Given the description of an element on the screen output the (x, y) to click on. 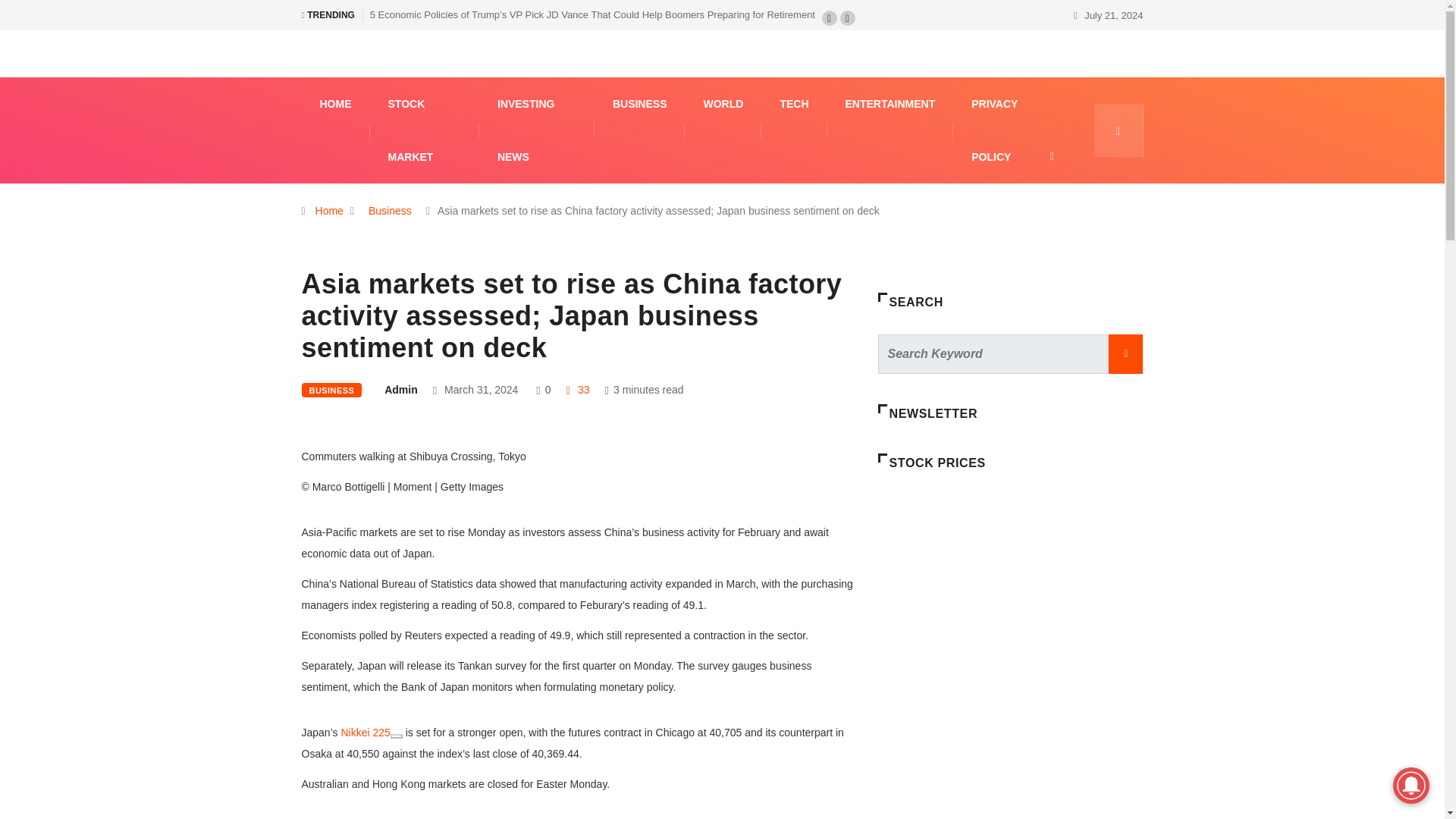
ENTERTAINMENT (889, 103)
BUSINESS (331, 390)
Home (329, 210)
Nikkei 225 (365, 732)
Admin (400, 389)
BUSINESS (639, 103)
popup modal for search (1117, 130)
Business (390, 210)
